Given the description of an element on the screen output the (x, y) to click on. 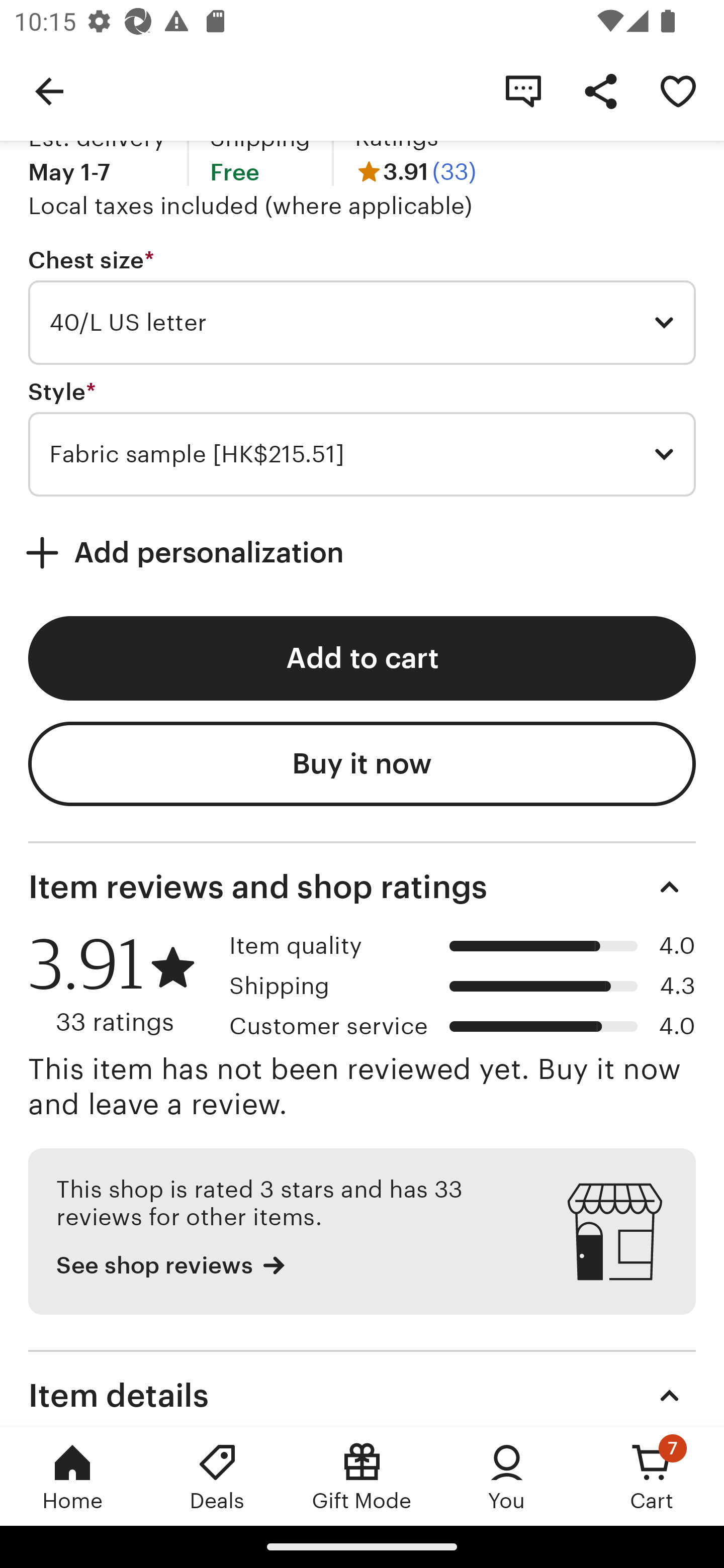
Navigate up (49, 90)
Contact shop (523, 90)
Share (600, 90)
3.91 (33) (415, 172)
Chest size * Required 40/L US letter (361, 306)
40/L US letter (361, 322)
Style * Required Fabric sample [HK$215.51] (361, 438)
Fabric sample [HK$215.51] (361, 454)
Add personalization Add personalization Required (362, 552)
Add to cart (361, 658)
Buy it now (361, 763)
Item reviews and shop ratings (362, 887)
3.91 33 ratings (121, 984)
Item details (362, 1388)
Deals (216, 1475)
Gift Mode (361, 1475)
You (506, 1475)
Cart, 7 new notifications Cart (651, 1475)
